Given the description of an element on the screen output the (x, y) to click on. 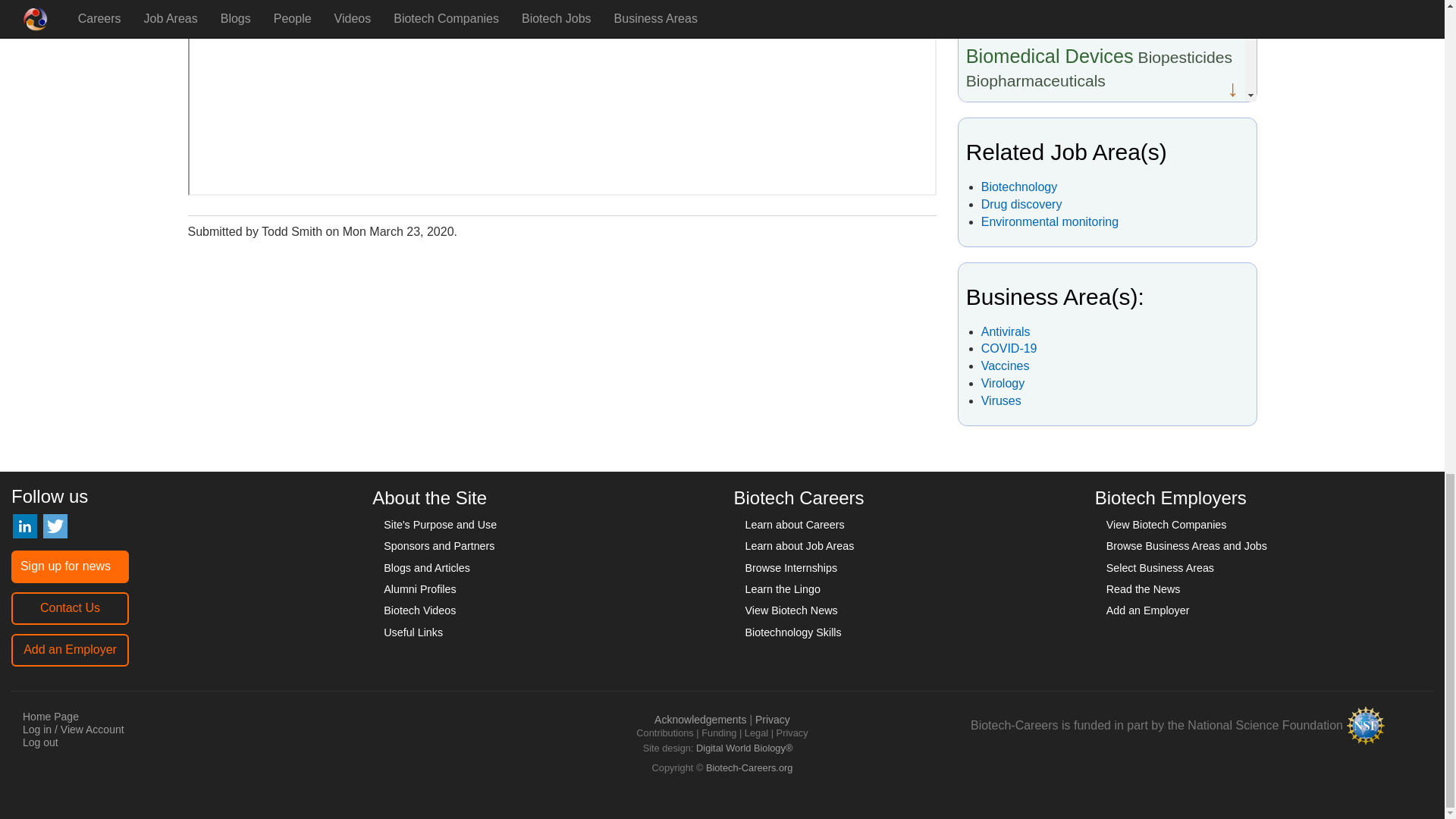
Blog (1101, 70)
View All Blogs (1100, 164)
